Given the description of an element on the screen output the (x, y) to click on. 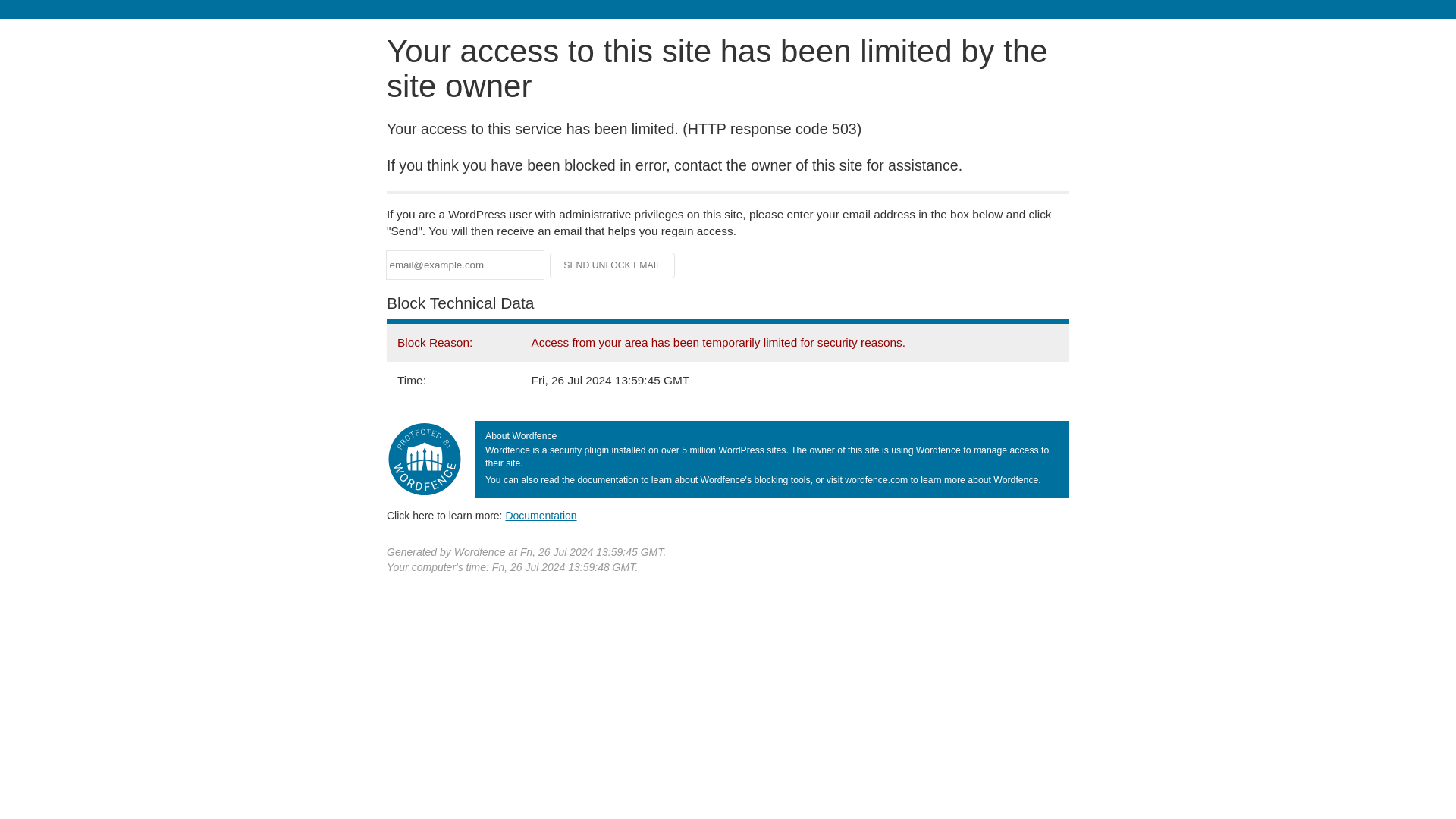
Send Unlock Email (612, 265)
Send Unlock Email (612, 265)
Documentation (540, 515)
